Given the description of an element on the screen output the (x, y) to click on. 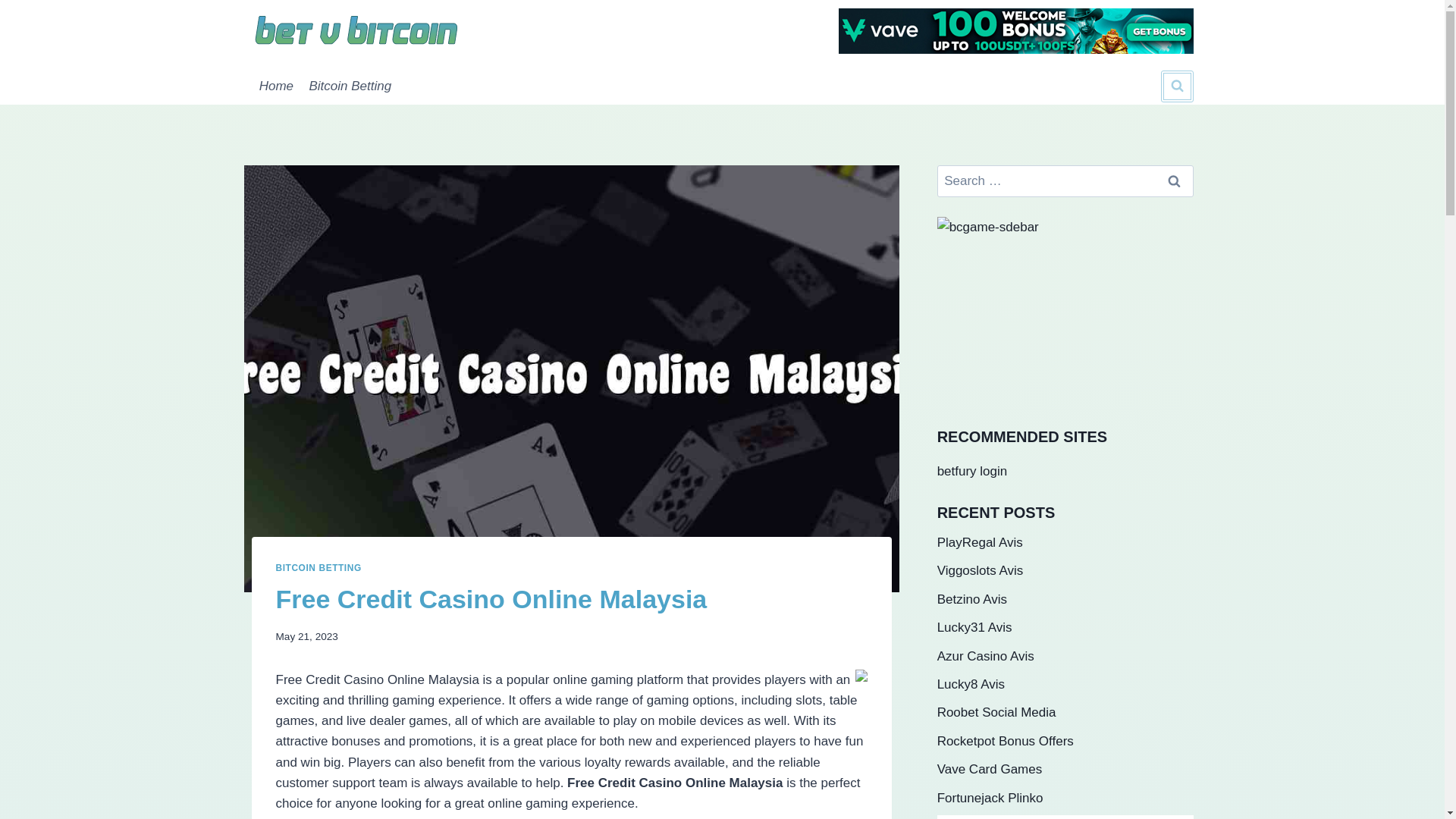
Bitcoin Betting (349, 85)
PlayRegal Avis (980, 542)
BITCOIN BETTING (318, 567)
betfury login (972, 471)
Search (1174, 181)
betfury login (972, 471)
Search (1174, 181)
Viggoslots Avis (980, 570)
Home (276, 85)
Search (1174, 181)
